Given the description of an element on the screen output the (x, y) to click on. 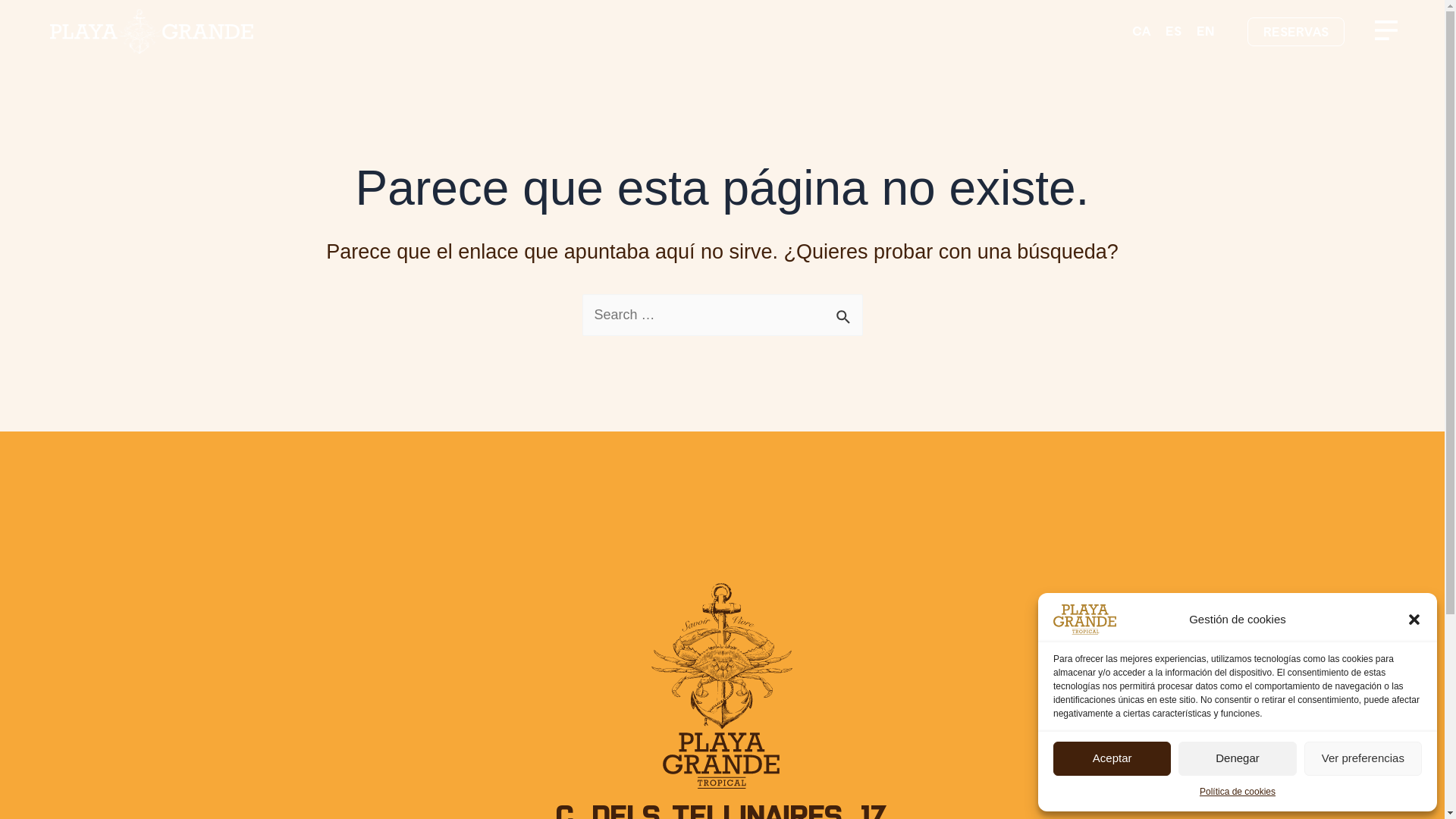
CA Element type: text (1140, 30)
RESERVAS Element type: text (1295, 31)
Buscar Element type: text (845, 311)
EN Element type: text (1205, 30)
ES Element type: text (1173, 30)
Ver preferencias Element type: text (1362, 758)
Denegar Element type: text (1236, 758)
Aceptar Element type: text (1111, 758)
